Given the description of an element on the screen output the (x, y) to click on. 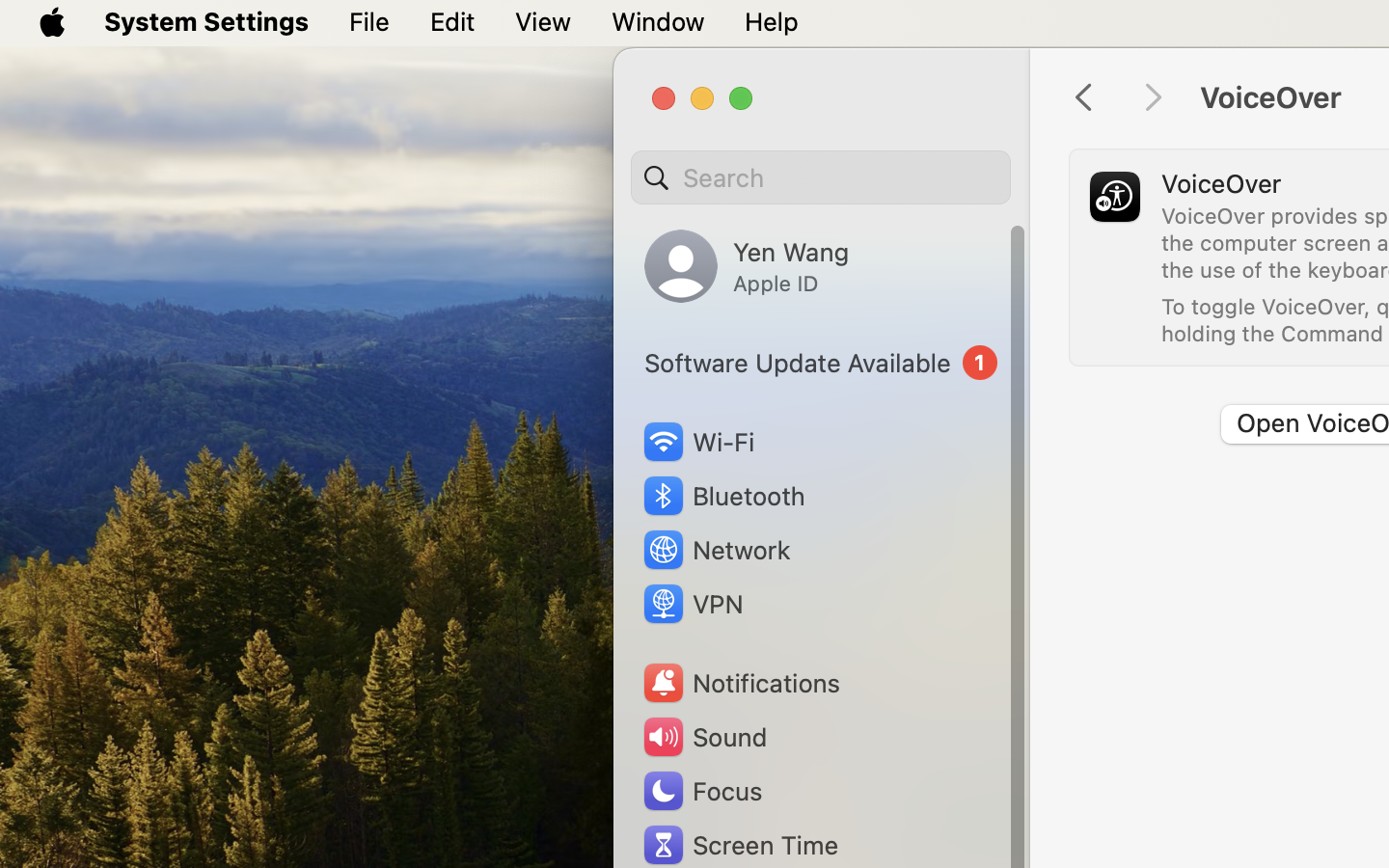
1 Element type: AXStaticText (820, 362)
VoiceOver Element type: AXStaticText (1220, 182)
Wi‑Fi Element type: AXStaticText (697, 441)
Screen Time Element type: AXStaticText (739, 844)
Focus Element type: AXStaticText (701, 790)
